Given the description of an element on the screen output the (x, y) to click on. 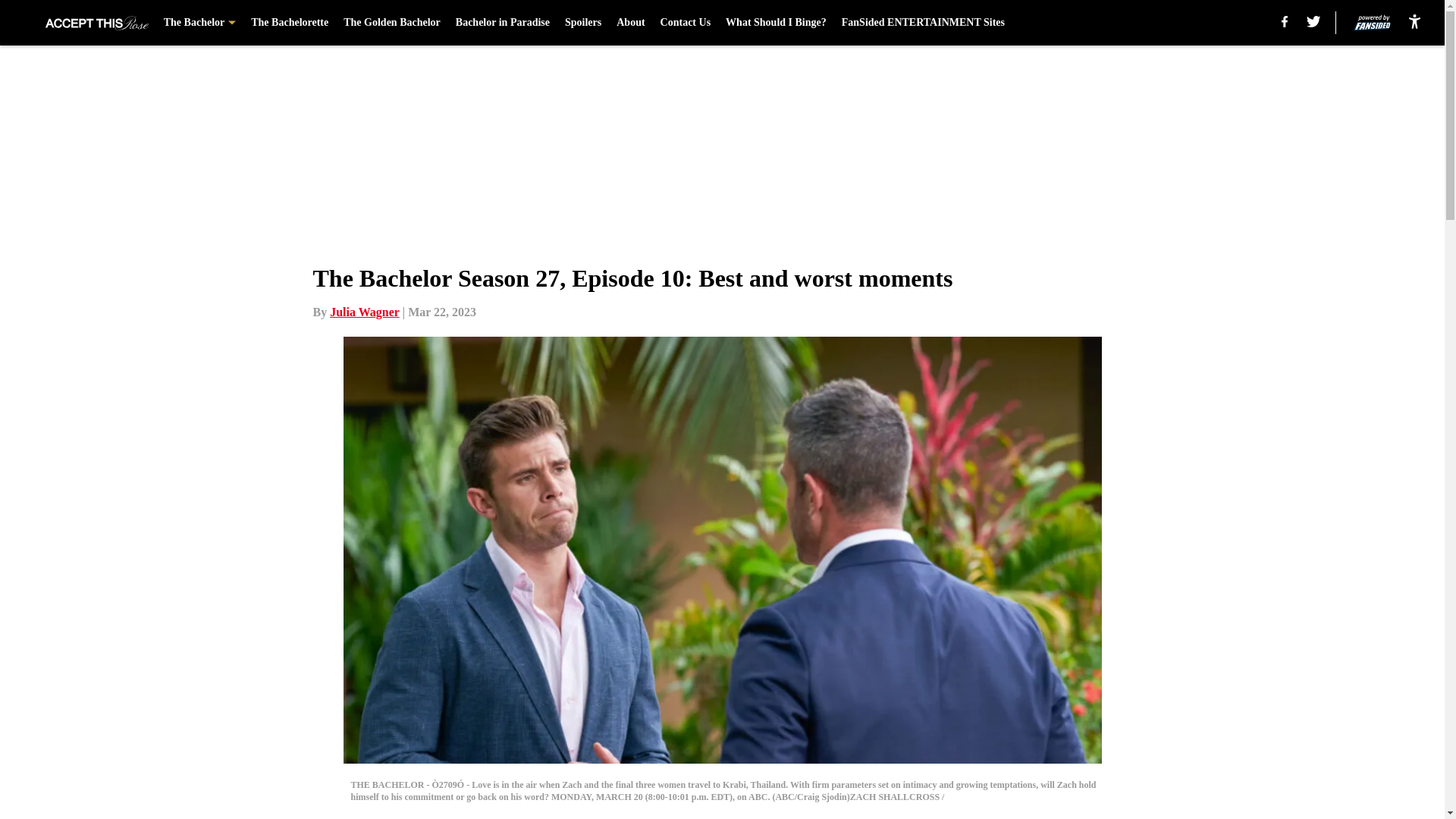
What Should I Binge? (776, 22)
FanSided ENTERTAINMENT Sites (922, 22)
Contact Us (686, 22)
Spoilers (582, 22)
Julia Wagner (364, 311)
The Golden Bachelor (392, 22)
Bachelor in Paradise (502, 22)
The Bachelorette (289, 22)
About (630, 22)
